Given the description of an element on the screen output the (x, y) to click on. 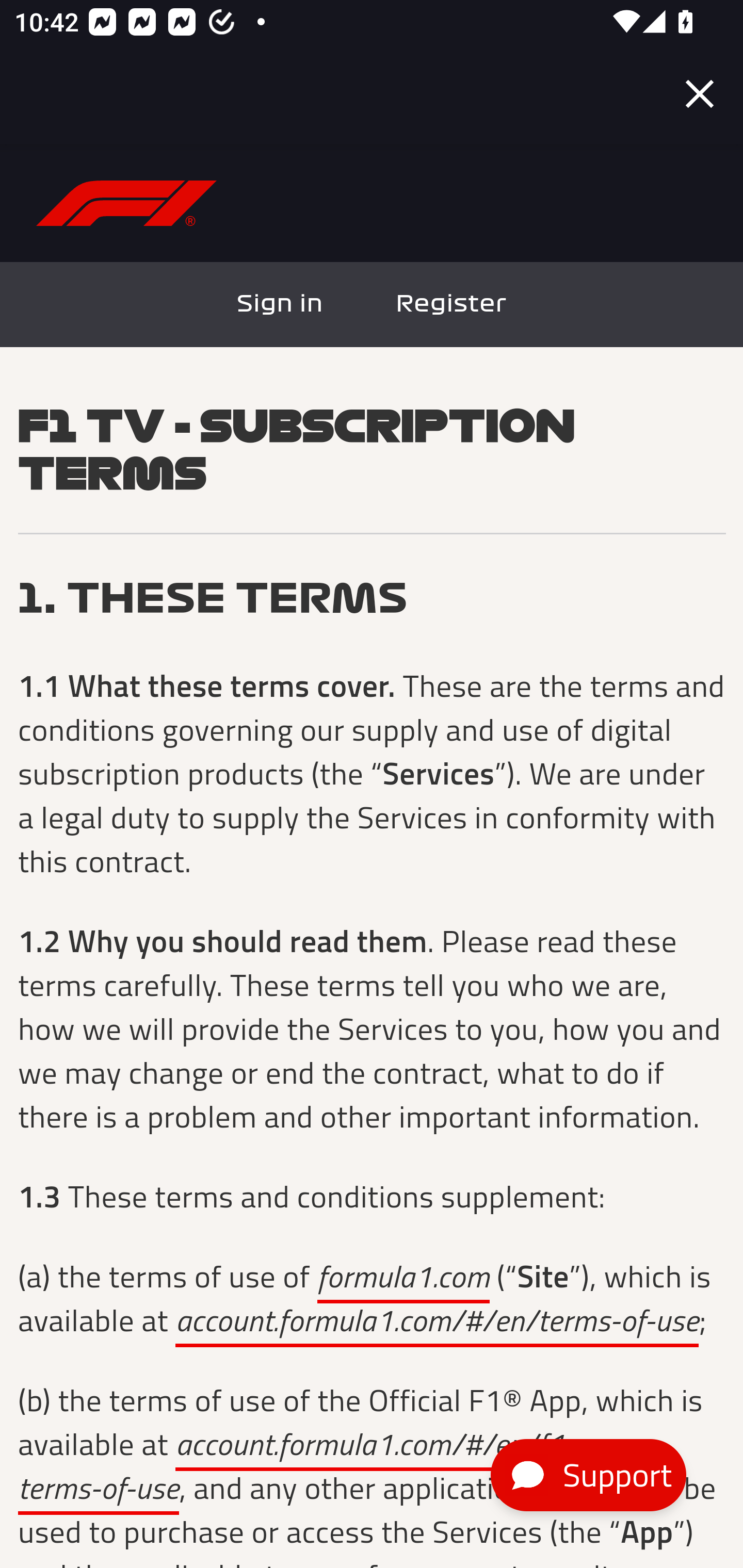
Close (699, 93)
Formula1 (127, 203)
Sign in (280, 304)
Register (451, 304)
Support (588, 1475)
